Given the description of an element on the screen output the (x, y) to click on. 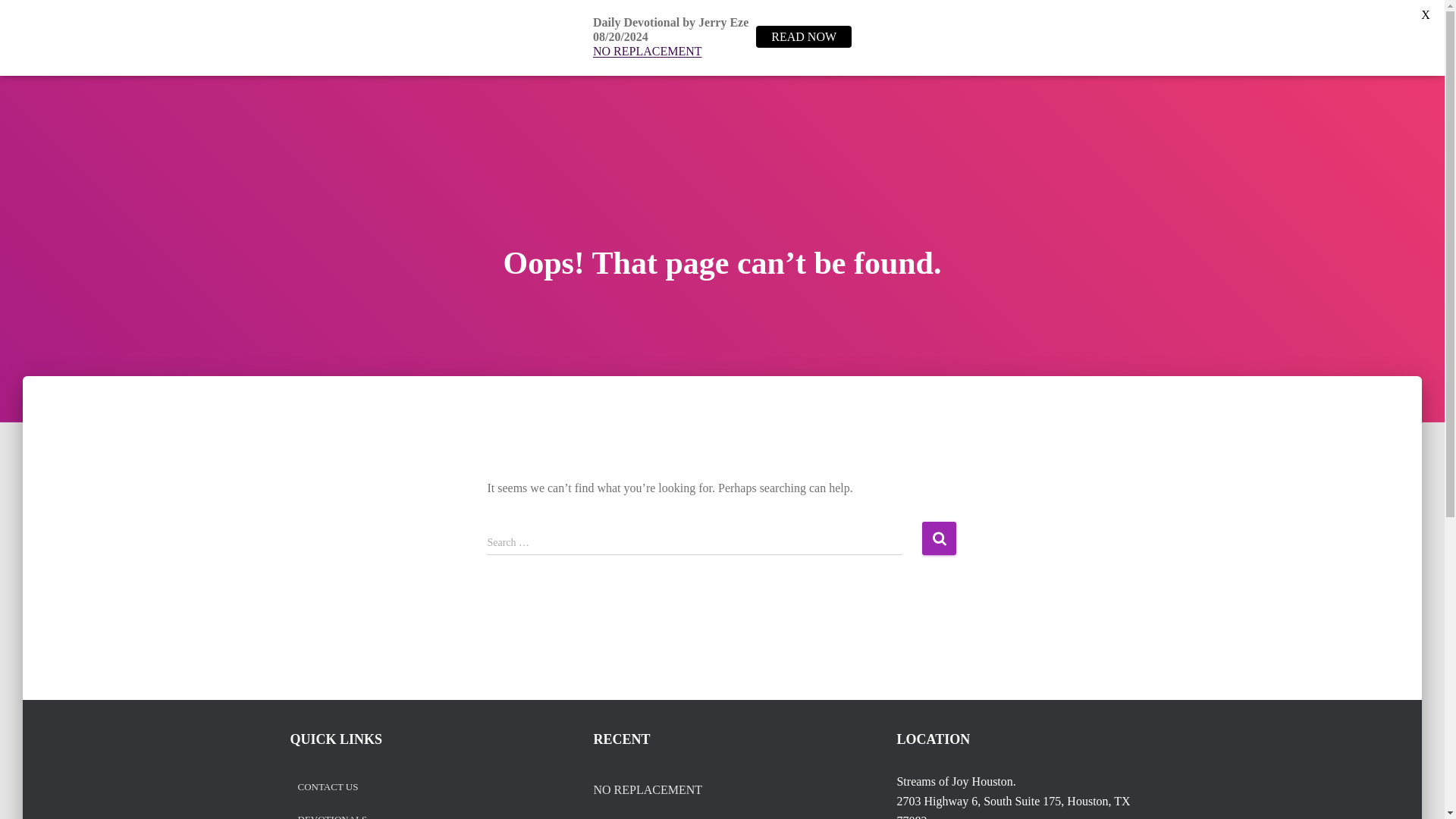
UPCOMING EVENTS (989, 37)
NO REPLACEMENT (646, 51)
ABOUT US (657, 37)
CONTACT US (327, 786)
Search (938, 538)
DEVOTIONALS (331, 817)
Upcoming Events (989, 37)
CONTACT US (1106, 37)
STRATEGIC CONNECTIONS    (673, 815)
About Us (657, 37)
